Given the description of an element on the screen output the (x, y) to click on. 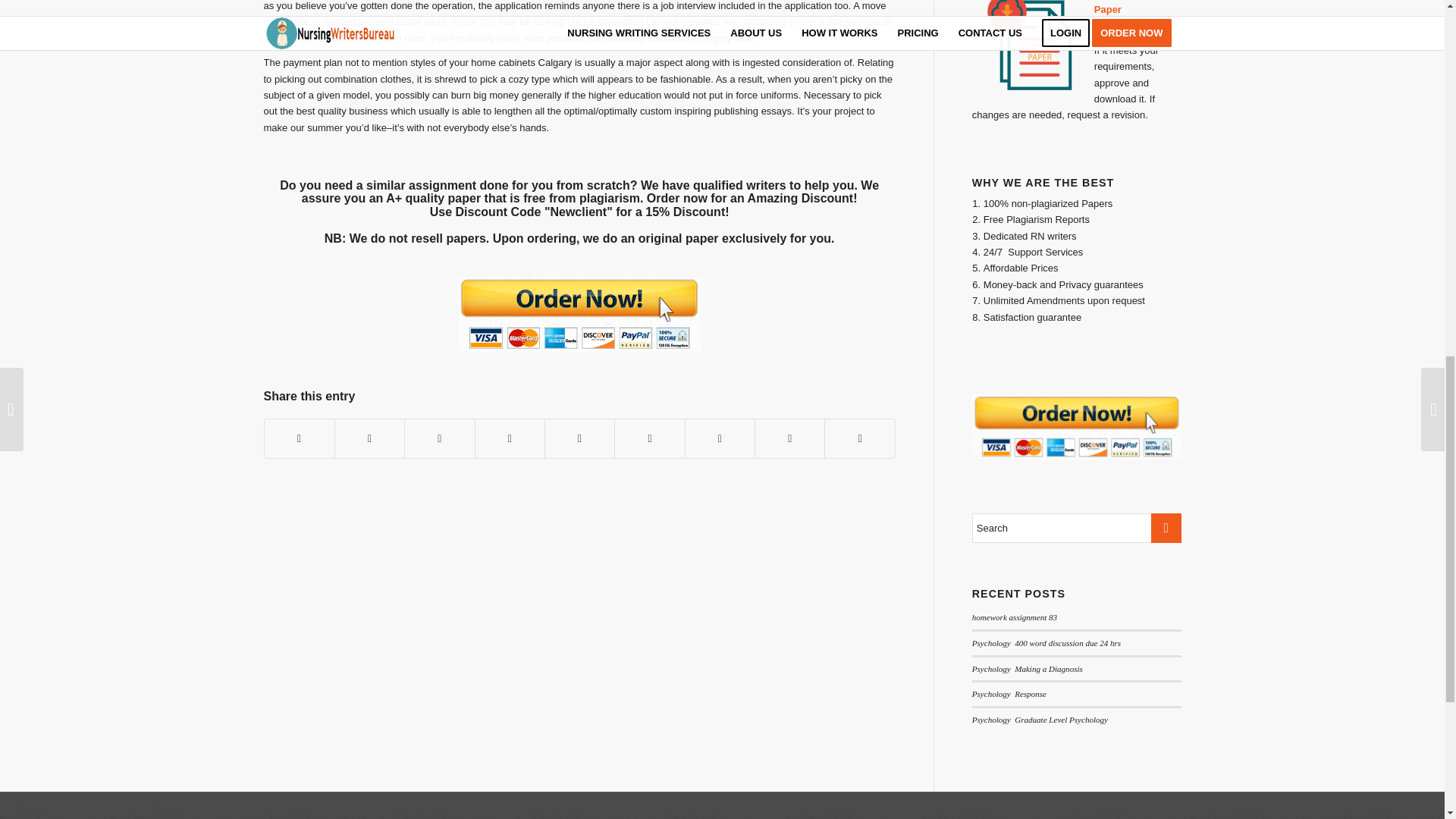
homework assignment 83 (1014, 616)
Psychology  Graduate Level Psychology (1040, 718)
Psychology  Response (1009, 693)
Psychology  400 word discussion due 24 hrs (1046, 642)
Psychology  Making a Diagnosis (1027, 668)
